Given the description of an element on the screen output the (x, y) to click on. 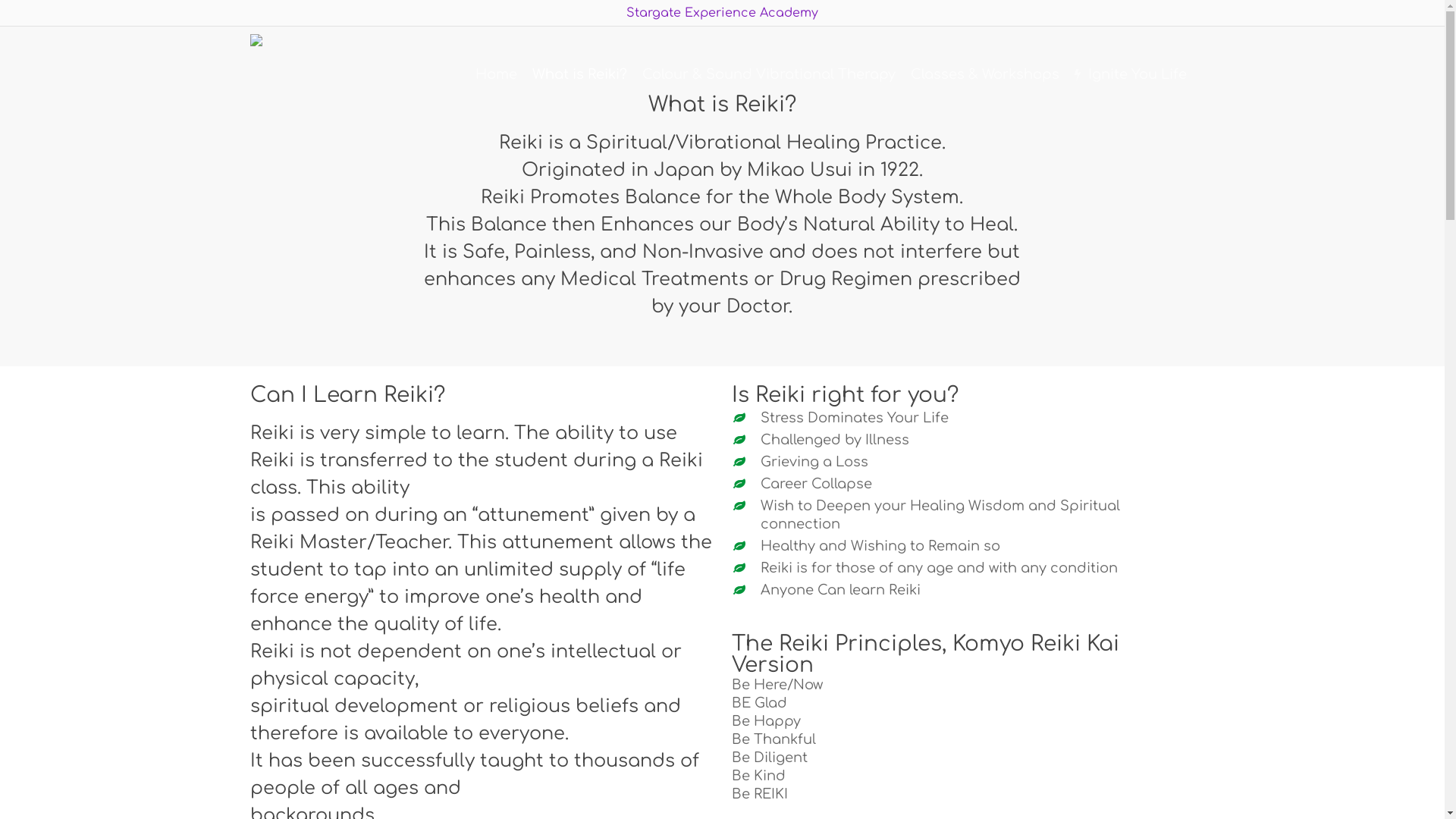
Colour & Sound Vibrational Therapy Element type: text (768, 73)
What is Reiki? Element type: text (579, 73)
Ignite You Life Element type: text (1130, 73)
Classes & Workshops Element type: text (984, 73)
Home Element type: text (495, 73)
Stargate Experience Academy Element type: text (722, 12)
